Given the description of an element on the screen output the (x, y) to click on. 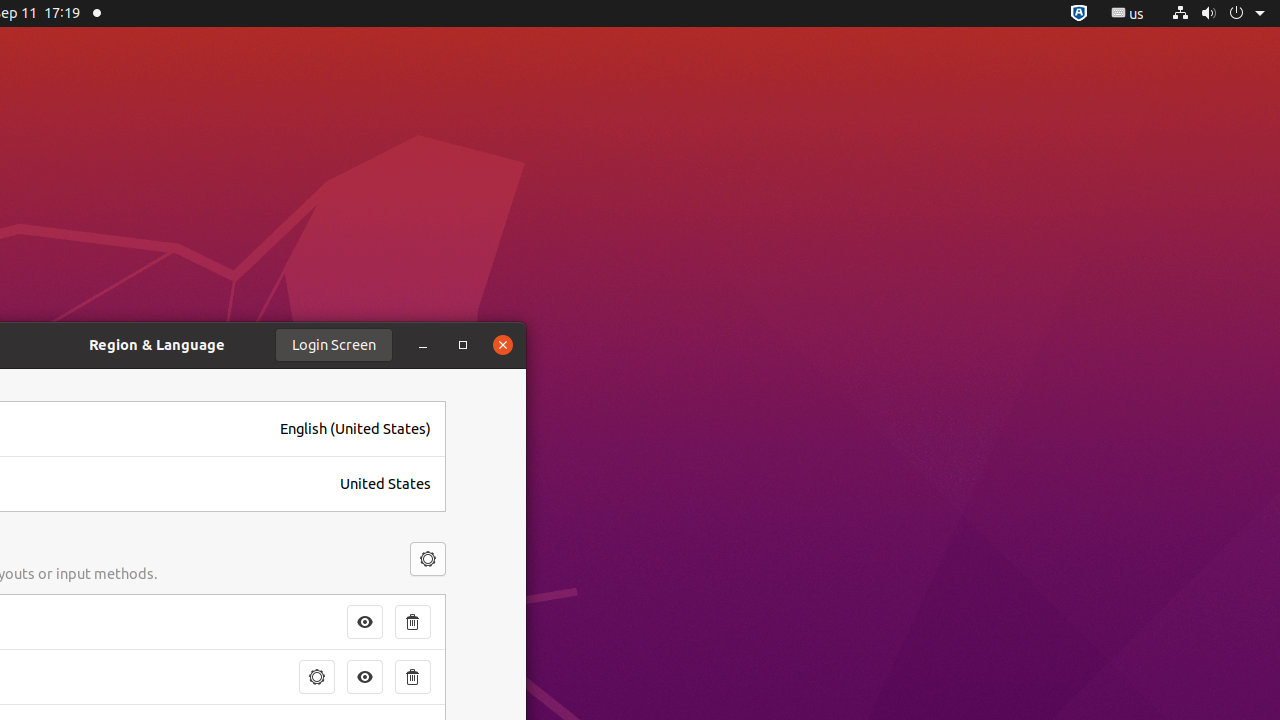
Menu Element type: toggle-button (428, 559)
Login Screen Element type: toggle-button (334, 345)
